Given the description of an element on the screen output the (x, y) to click on. 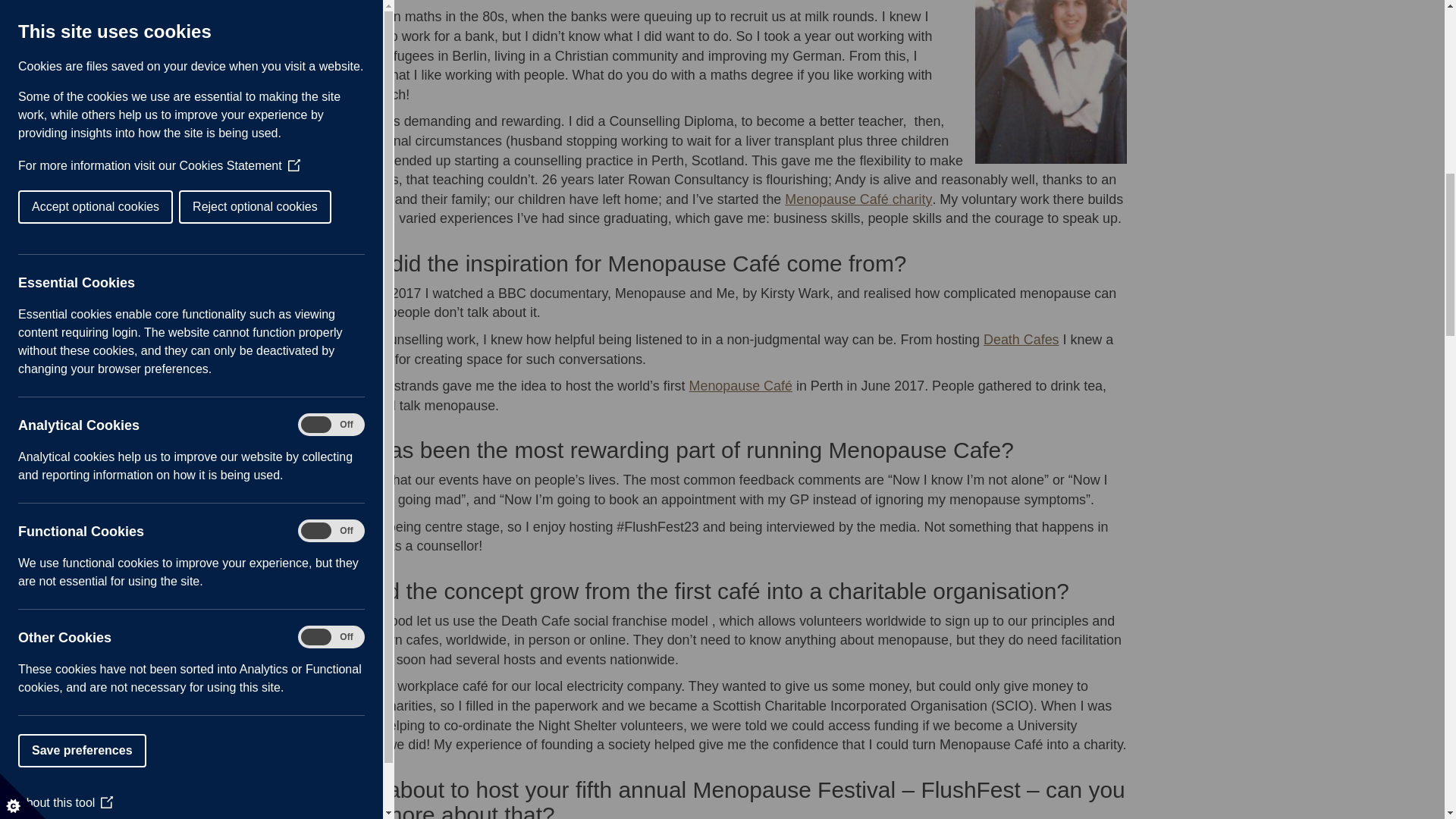
Rachel Weiss Graduation at Oxford  (1050, 81)
